Given the description of an element on the screen output the (x, y) to click on. 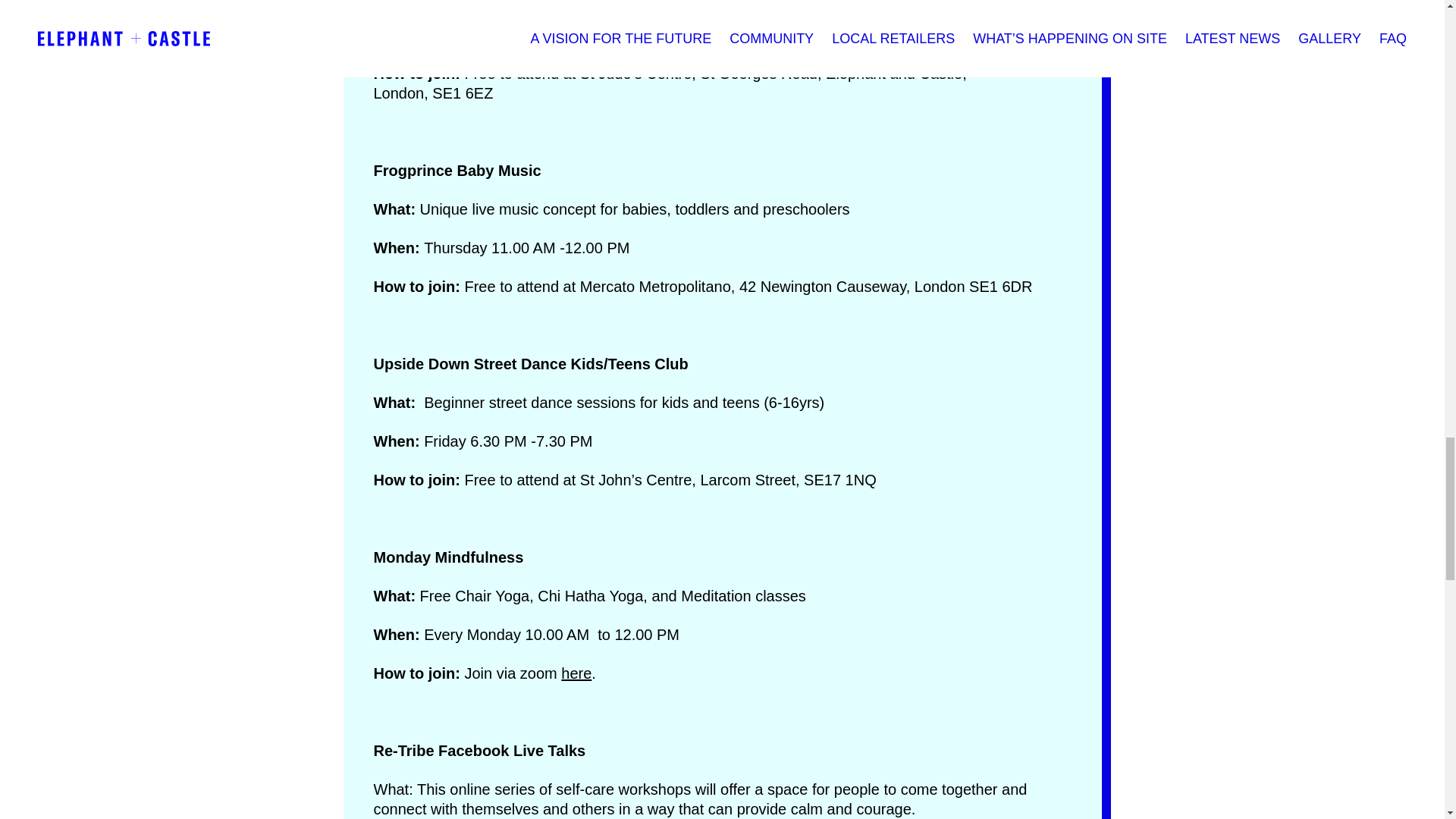
here (575, 673)
